Given the description of an element on the screen output the (x, y) to click on. 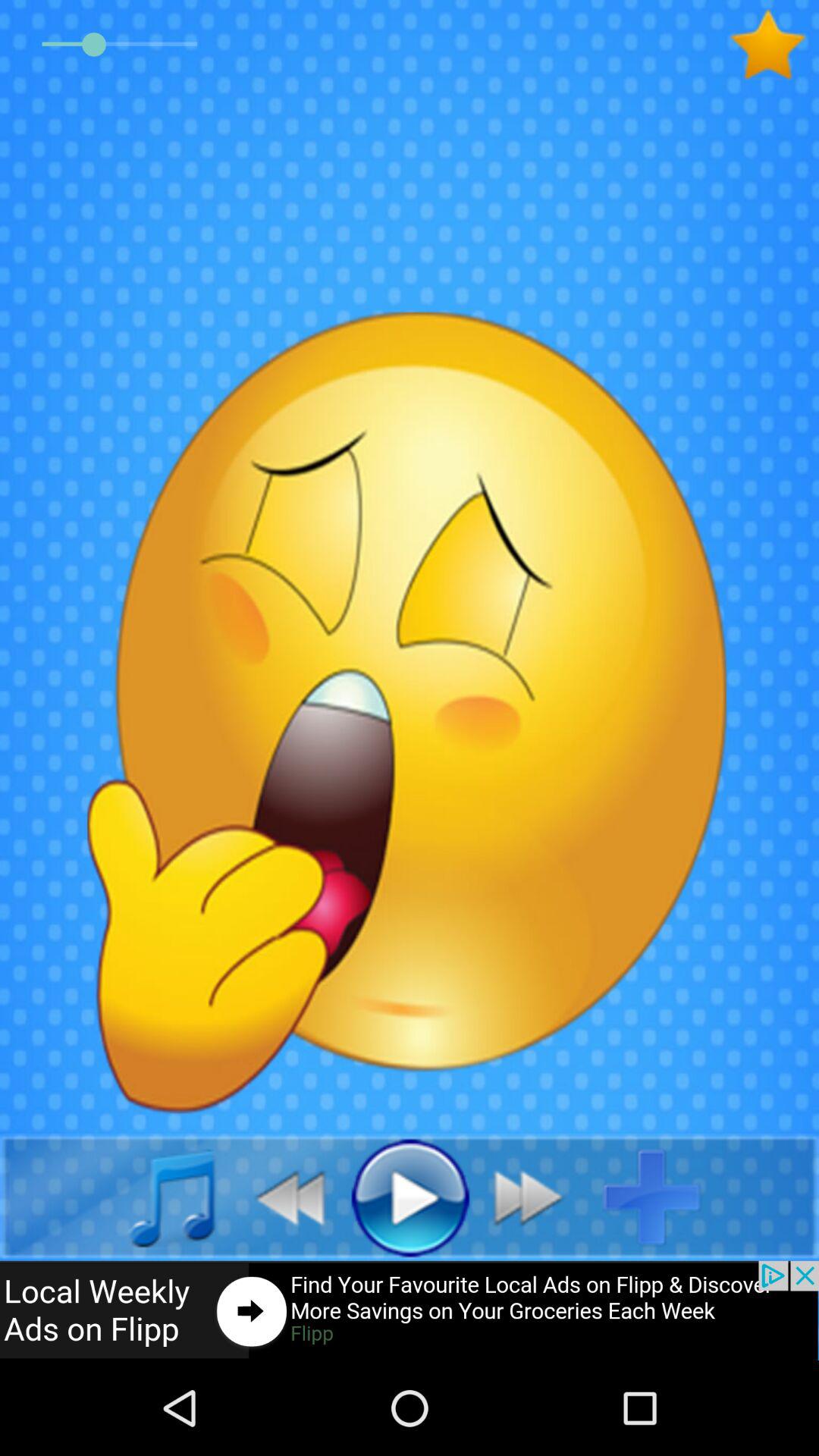
click to add option (664, 1196)
